Given the description of an element on the screen output the (x, y) to click on. 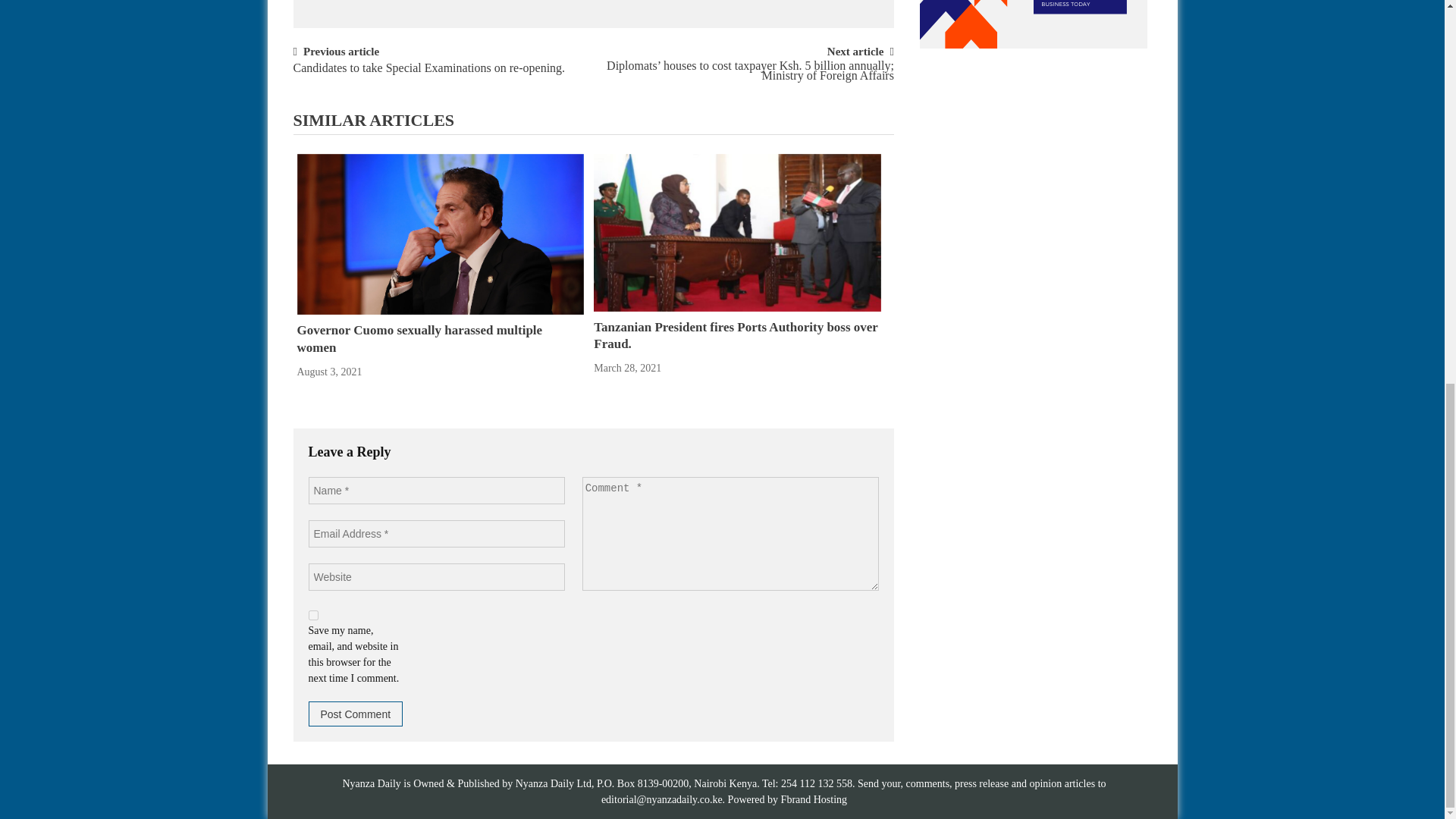
yes (312, 614)
Governor Cuomo sexually harassed multiple women (440, 234)
Governor Cuomo sexually harassed multiple women (420, 337)
Governor Cuomo sexually harassed multiple women (440, 233)
Tanzanian President fires Ports Authority boss over Fraud. (737, 231)
Tanzanian President fires Ports Authority boss over Fraud. (735, 335)
Tanzanian President fires Ports Authority boss over Fraud. (737, 232)
August 3, 2021 (329, 371)
Post Comment (355, 713)
Candidates to take Special Examinations on re-opening. (428, 75)
Tanzanian President fires Ports Authority boss over Fraud. (735, 335)
Governor Cuomo sexually harassed multiple women (420, 337)
